Given the description of an element on the screen output the (x, y) to click on. 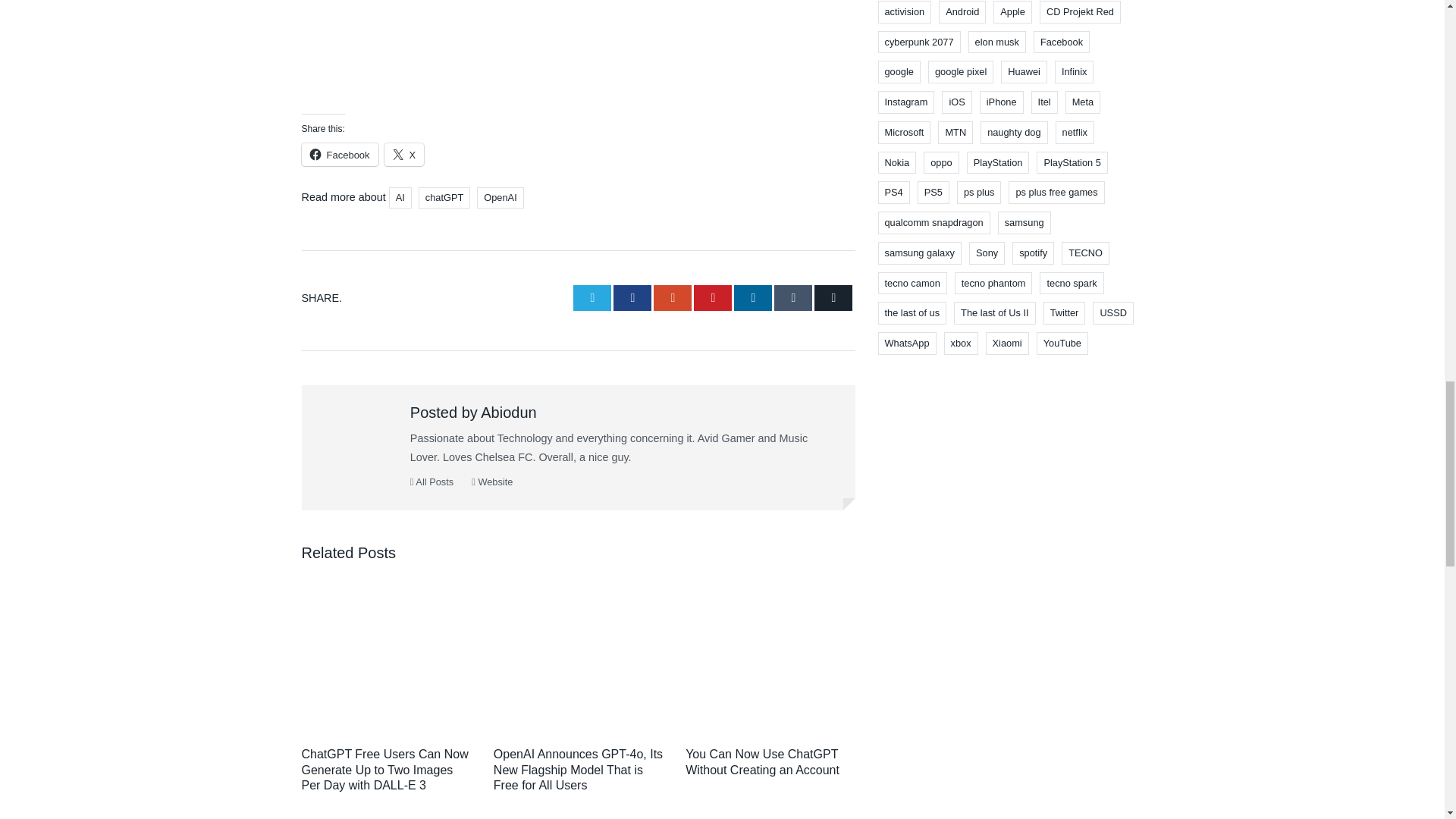
AI (400, 197)
Tweet It (592, 298)
Facebook (339, 154)
Click to share on Facebook (339, 154)
Share via Email (832, 298)
OpenAI (499, 197)
You Can Now Use ChatGPT Without Creating an Account (762, 761)
Share at Facebook (631, 298)
